Given the description of an element on the screen output the (x, y) to click on. 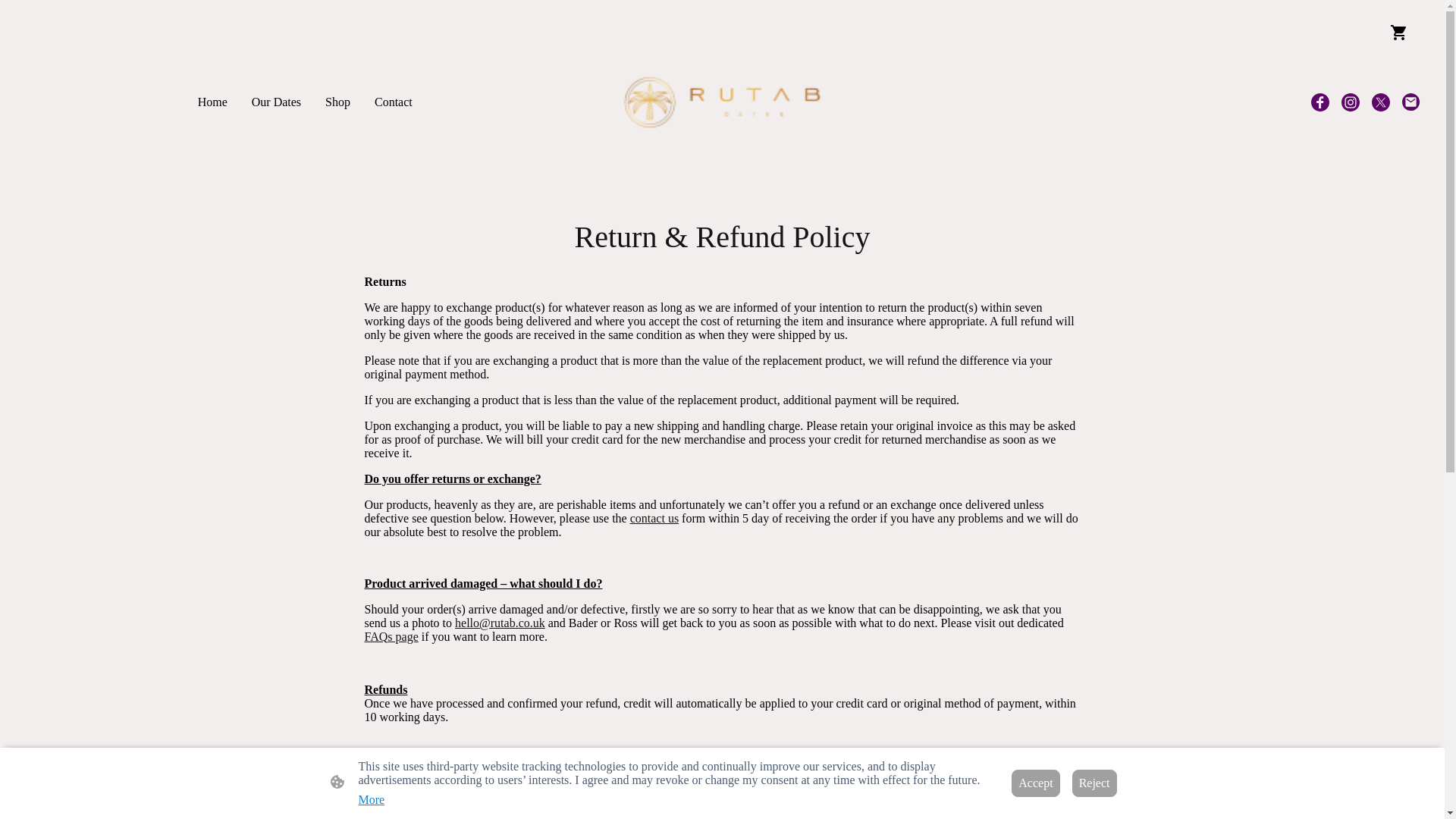
FAQs page (390, 635)
Shop (337, 102)
Our Dates (276, 102)
Contact (393, 102)
Accept (1035, 782)
Home (212, 102)
contact us (654, 517)
More (371, 799)
